Given the description of an element on the screen output the (x, y) to click on. 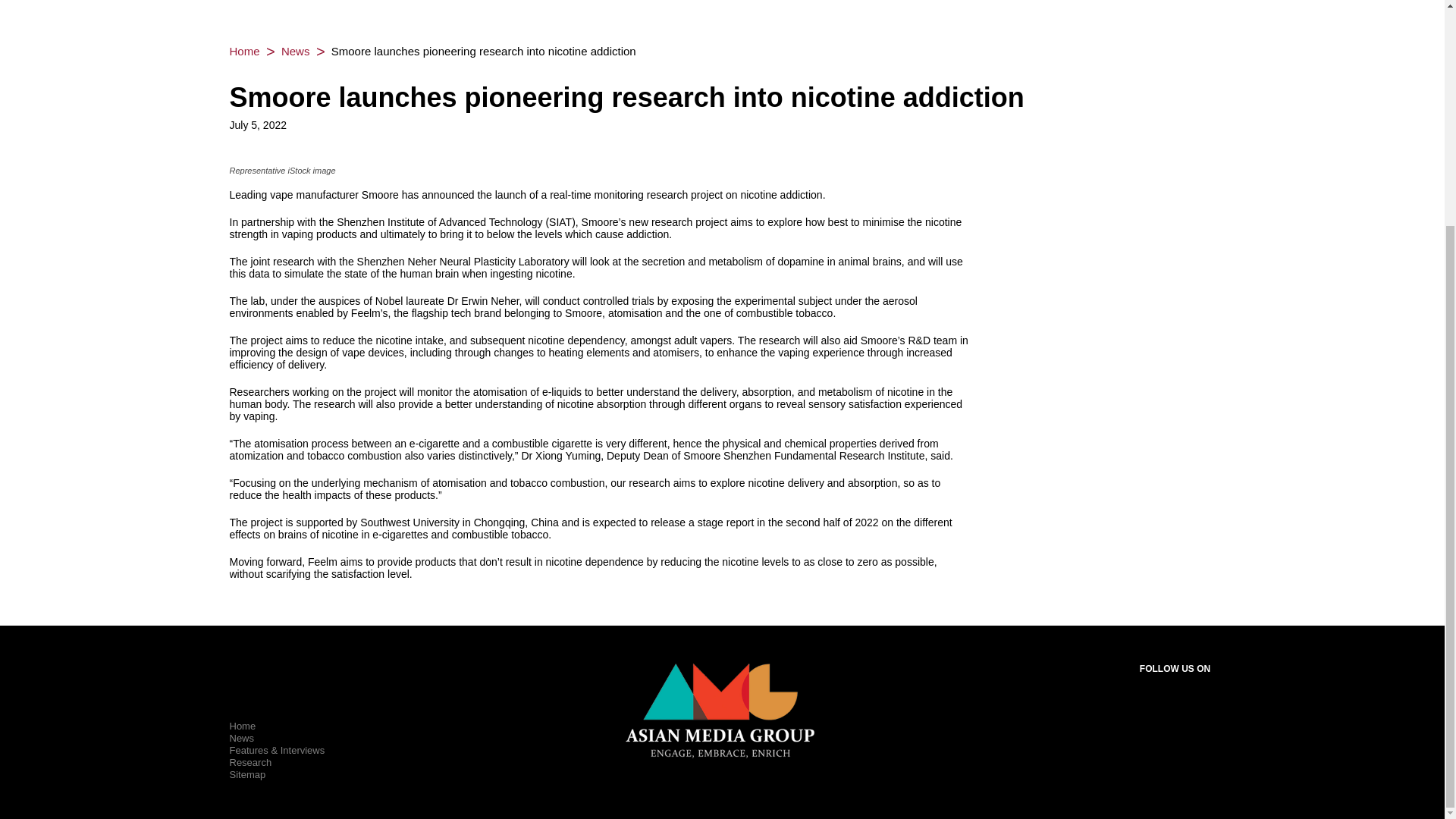
View all posts in Entertainment (295, 51)
Sitemap (246, 774)
Research (249, 762)
News (295, 51)
Advertisement (721, 6)
News (240, 737)
Home (242, 726)
Home (243, 51)
